Given the description of an element on the screen output the (x, y) to click on. 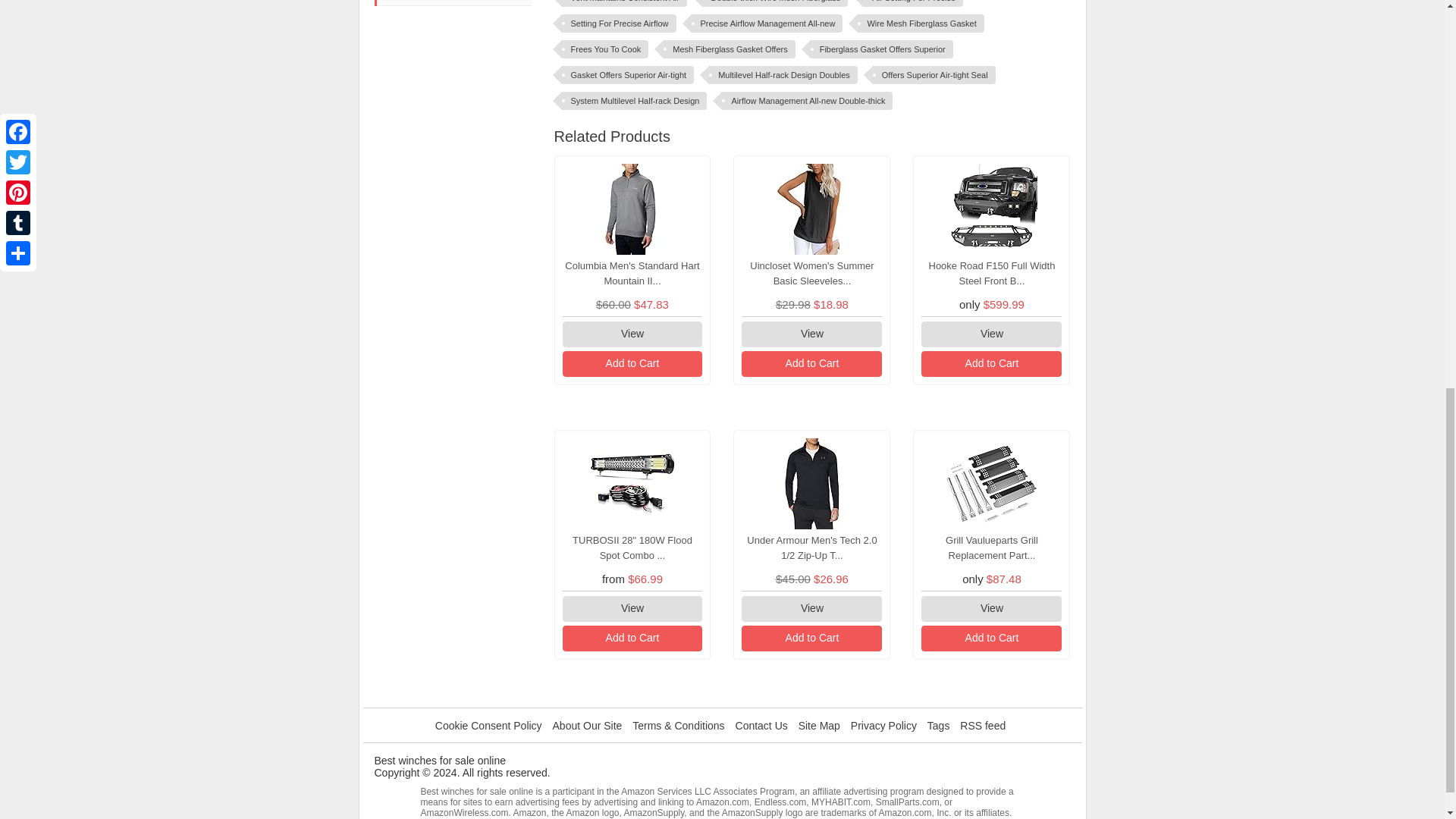
Frees You To Cook (603, 49)
Wire Mesh Fiberglass Gasket (920, 23)
Air Setting For Precise (912, 3)
Fiberglass Gasket Offers Superior (881, 49)
Mesh Fiberglass Gasket Offers (728, 49)
Setting For Precise Airflow (617, 23)
Precise Airflow Management All-new (767, 23)
Double-thick Wire Mesh Fiberglass (774, 3)
Vent Maintains Consistent Air (622, 3)
